Given the description of an element on the screen output the (x, y) to click on. 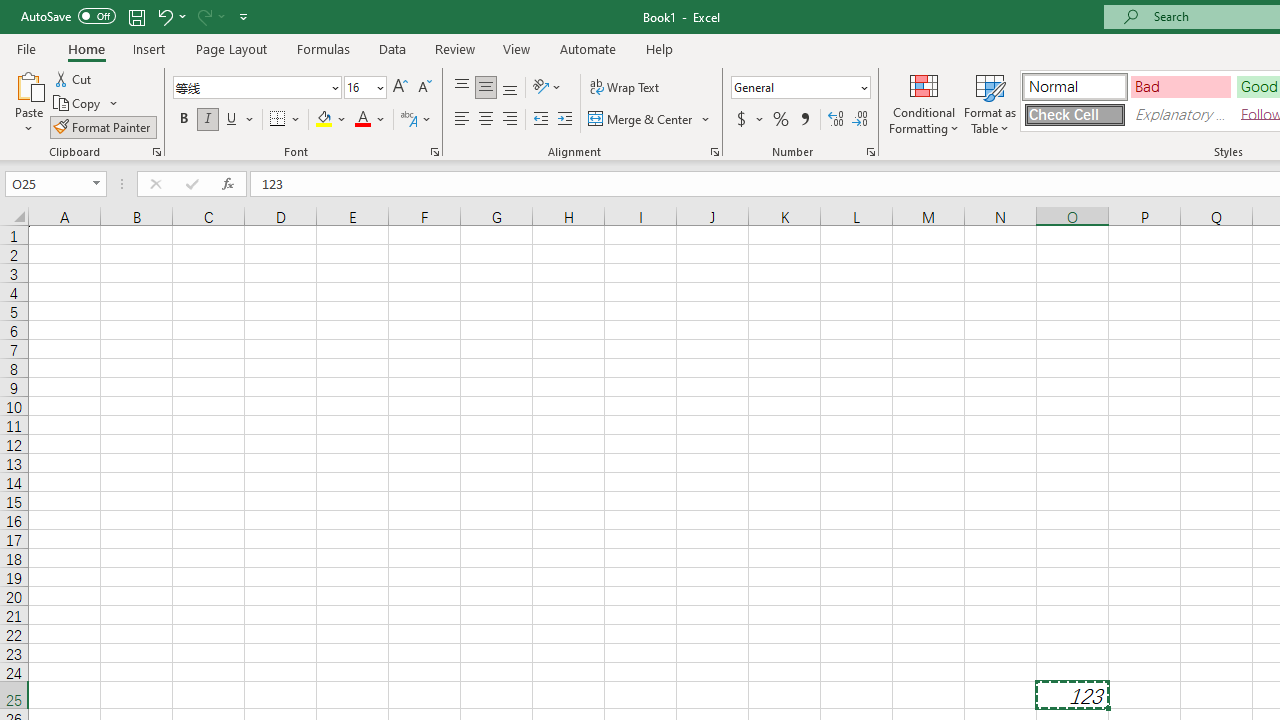
Wrap Text (624, 87)
Open (96, 183)
Formulas (323, 48)
Help (660, 48)
Copy (85, 103)
Office Clipboard... (156, 151)
Fill Color (331, 119)
Underline (232, 119)
Accounting Number Format (741, 119)
Increase Indent (565, 119)
Explanatory Text (1180, 114)
Orientation (547, 87)
AutoSave (68, 16)
Conditional Formatting (924, 102)
Top Align (461, 87)
